Given the description of an element on the screen output the (x, y) to click on. 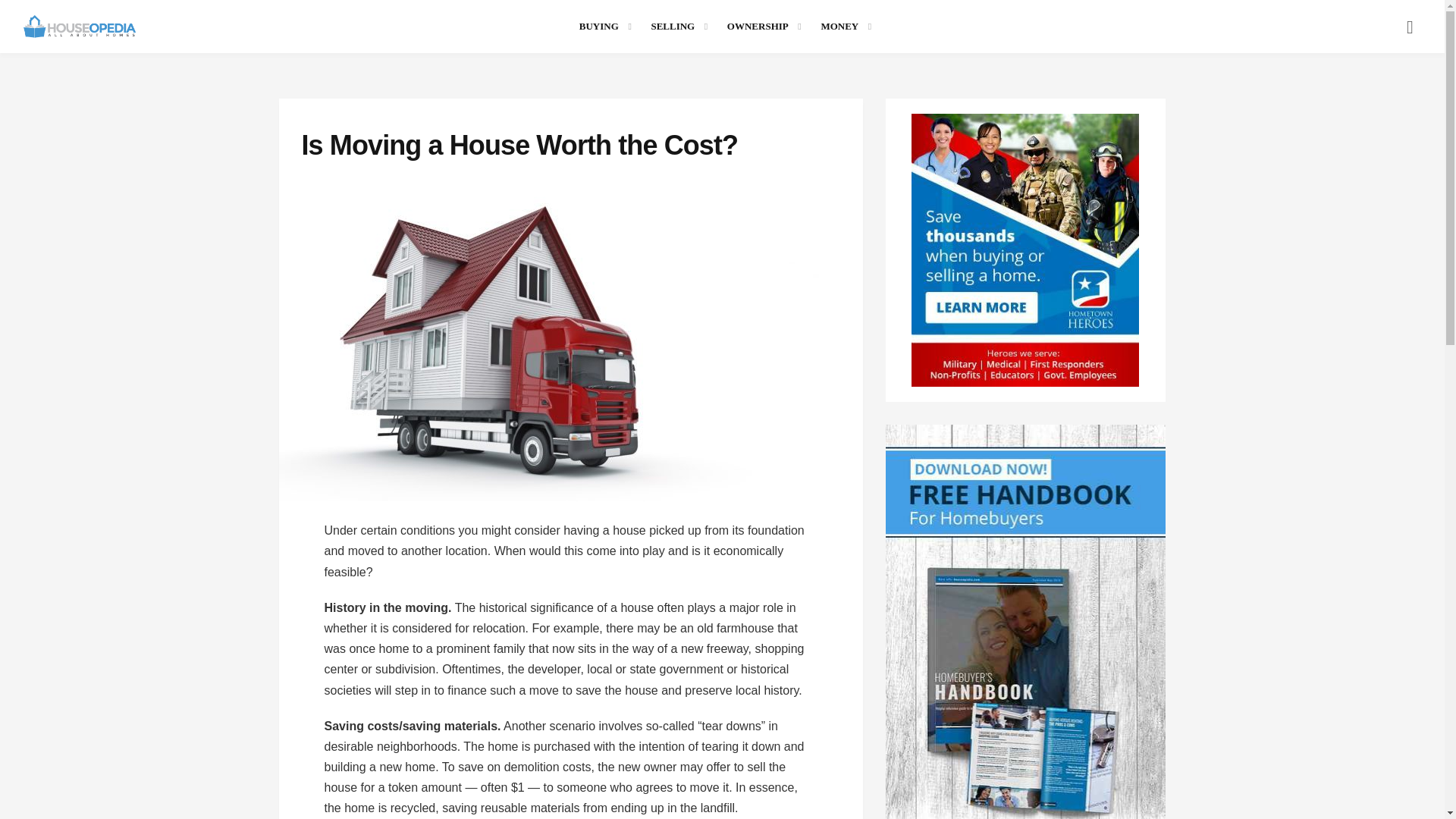
SELLING (675, 26)
OWNERSHIP (760, 26)
BUYING (602, 26)
Is Moving a House Worth the Cost? (571, 336)
